Given the description of an element on the screen output the (x, y) to click on. 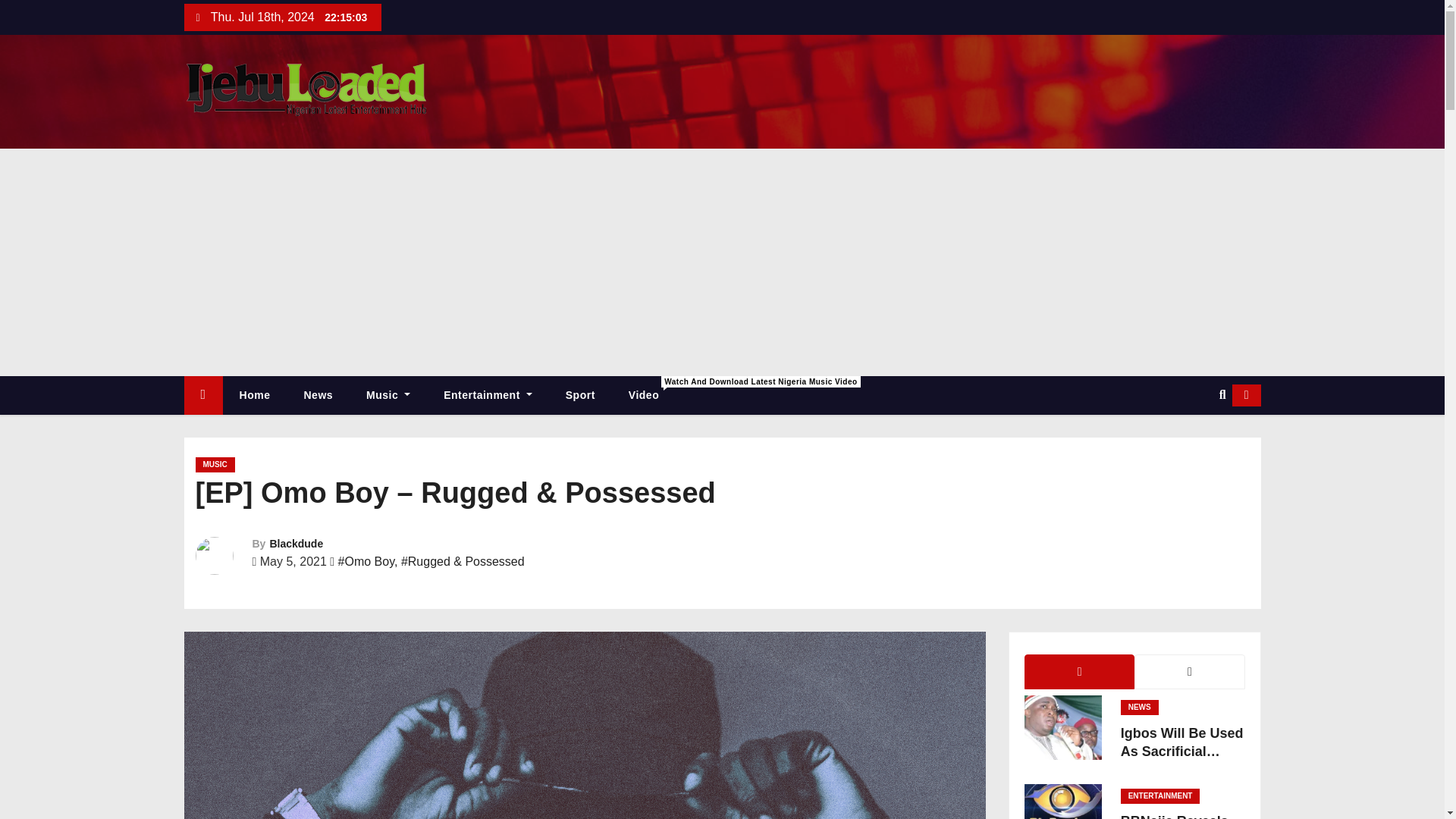
Blackdude (296, 543)
Sport (579, 394)
News (317, 394)
Entertainment (487, 394)
Entertainment (487, 394)
Home (254, 394)
Video (643, 394)
Home (254, 394)
Music (387, 394)
Music (387, 394)
News (317, 394)
MUSIC (214, 464)
Home (202, 394)
